Given the description of an element on the screen output the (x, y) to click on. 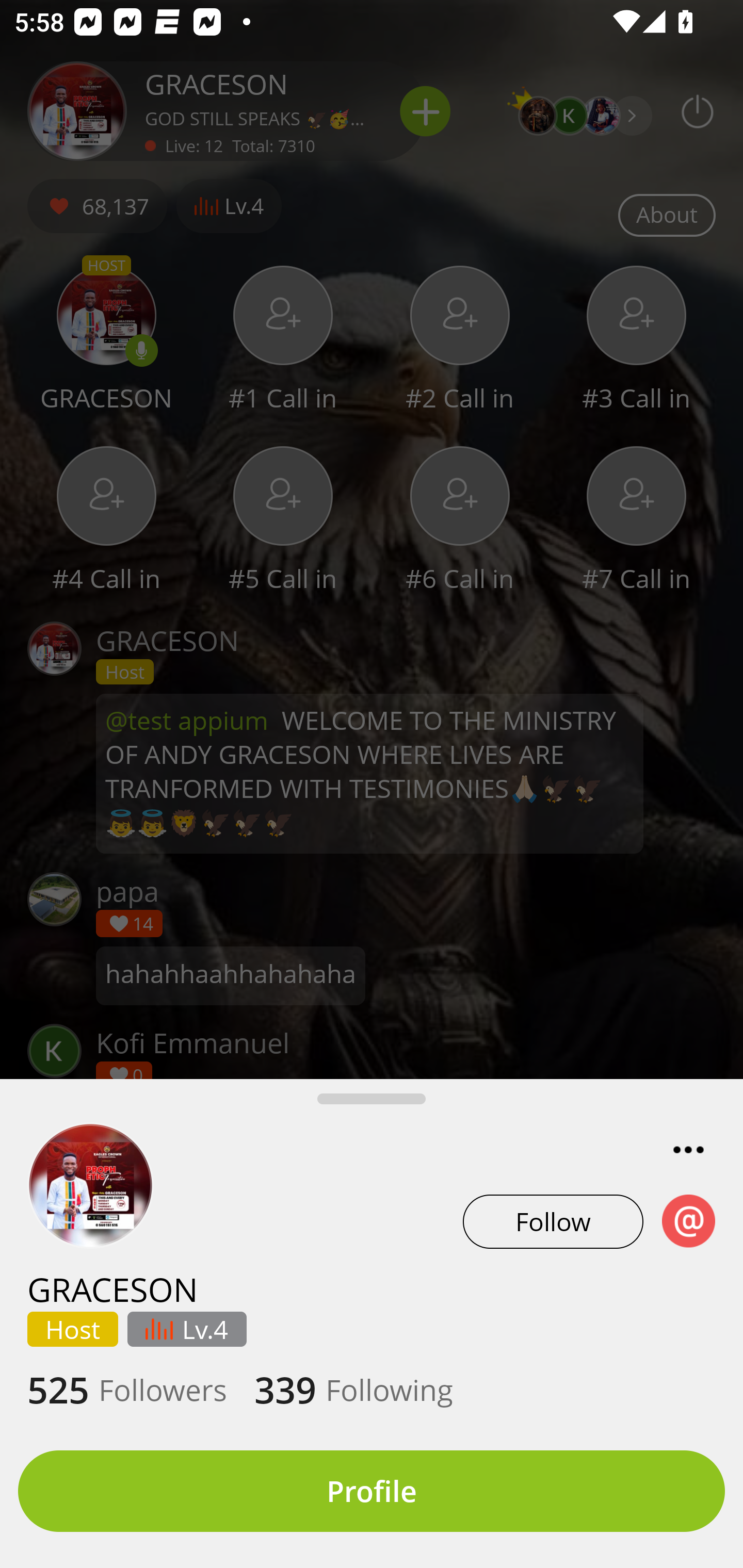
Follow (552, 1221)
Profile (371, 1490)
